Given the description of an element on the screen output the (x, y) to click on. 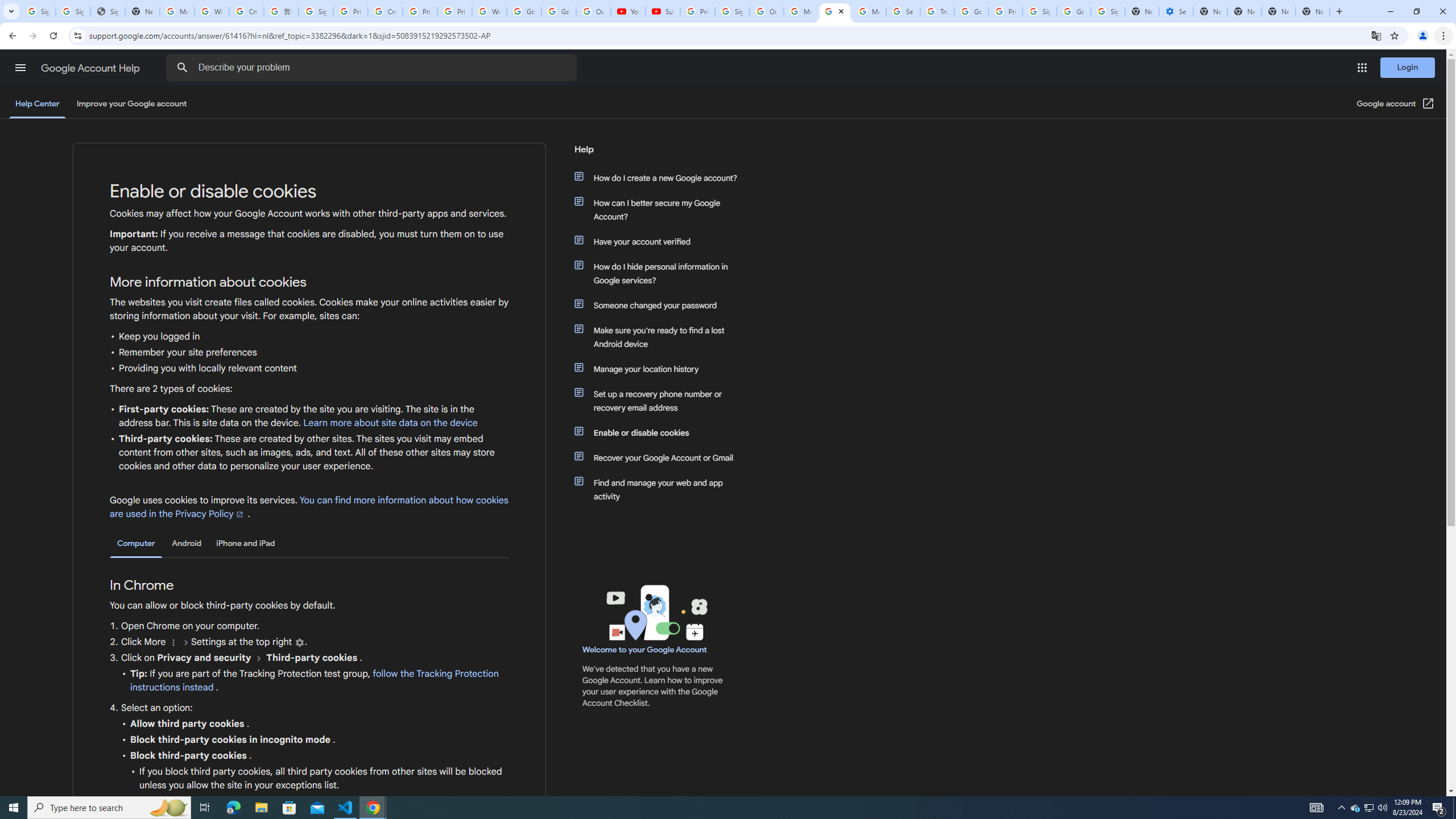
Learning Center home page image (655, 612)
Google Cybersecurity Innovations - Google Safety Center (1073, 11)
Login (1407, 67)
Manage your location history (661, 368)
Turn cookies on or off - Computer - Google Account Help (834, 11)
New Tab (1312, 11)
Google Ads - Sign in (970, 11)
Have your account verified (661, 241)
